Given the description of an element on the screen output the (x, y) to click on. 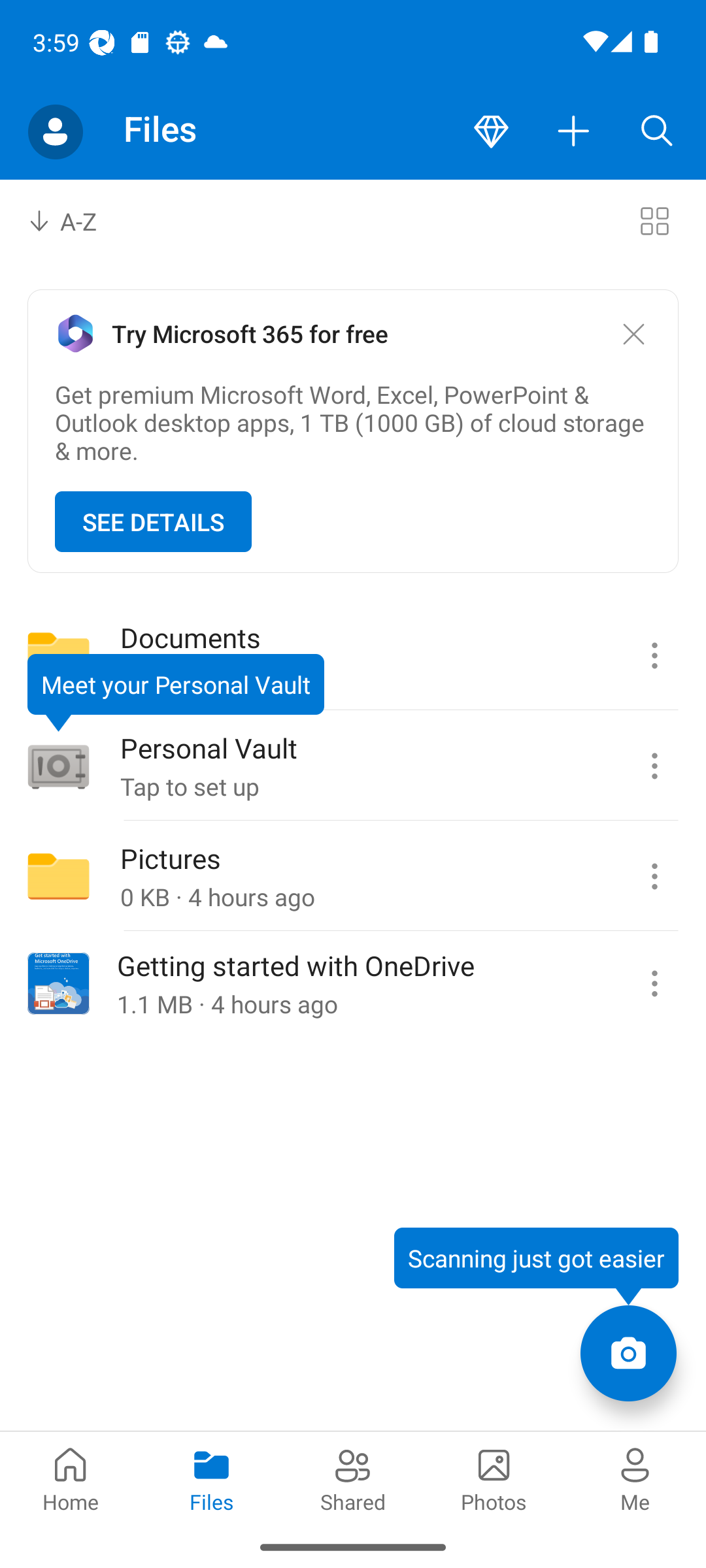
Scanning just got easier (535, 1265)
